Given the description of an element on the screen output the (x, y) to click on. 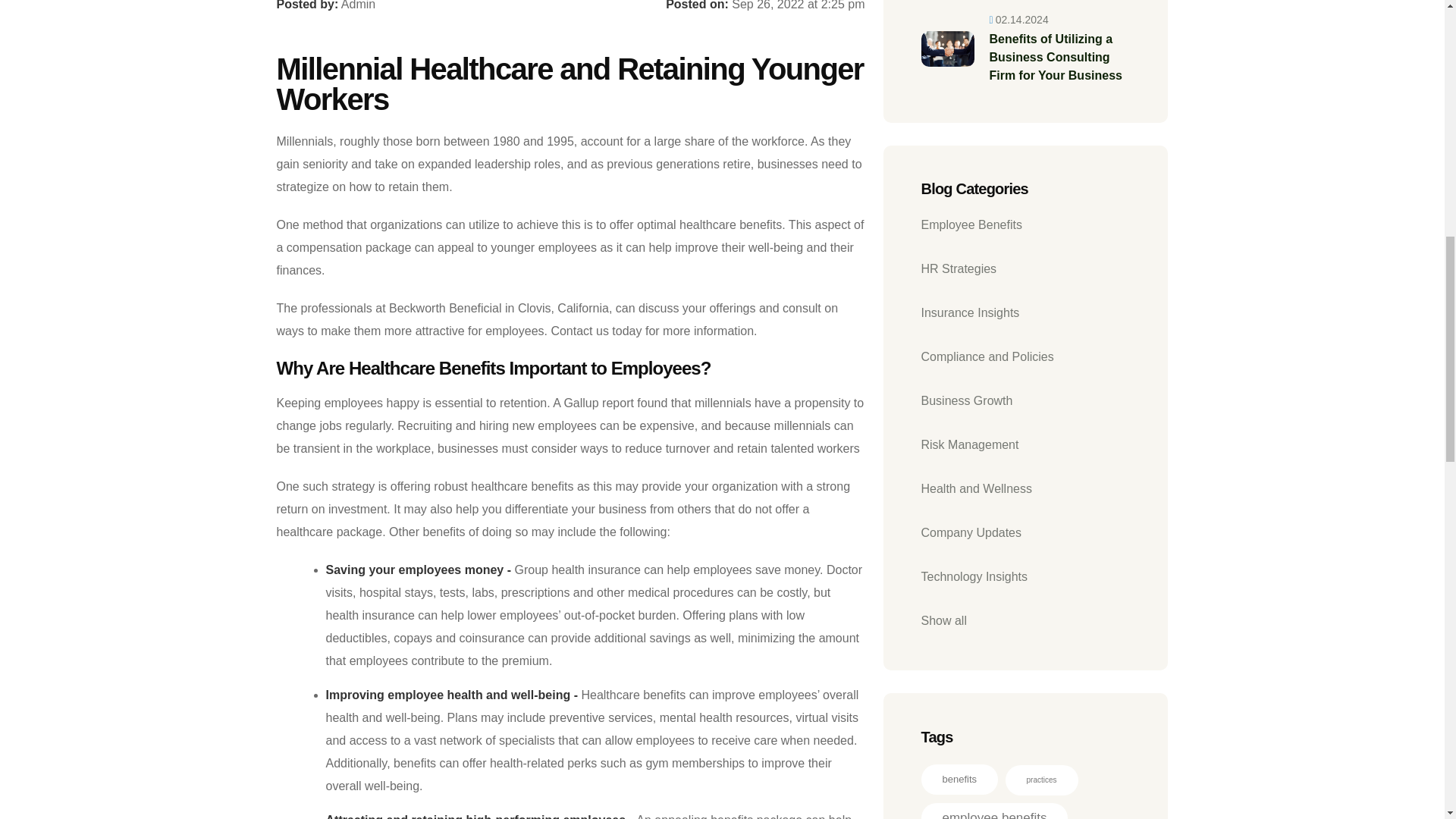
Articles: 1 (1042, 779)
Articles: 3 (958, 779)
Articles: 6 (993, 811)
